Given the description of an element on the screen output the (x, y) to click on. 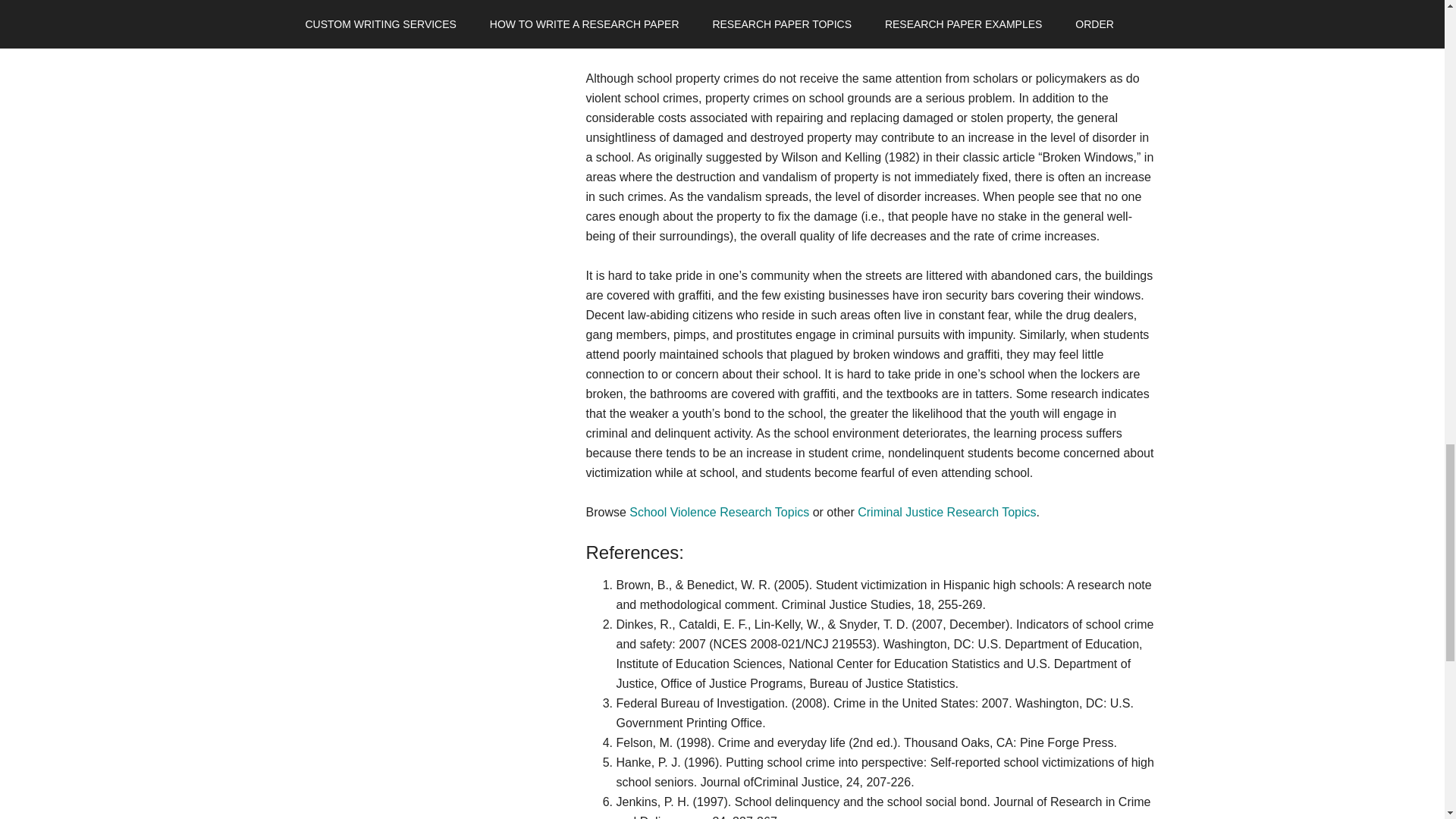
Criminal Justice Research Topics (946, 512)
School Violence Research Topics (718, 512)
Criminal Justice Research Topics (946, 512)
School Violence Research Topics (718, 512)
